Given the description of an element on the screen output the (x, y) to click on. 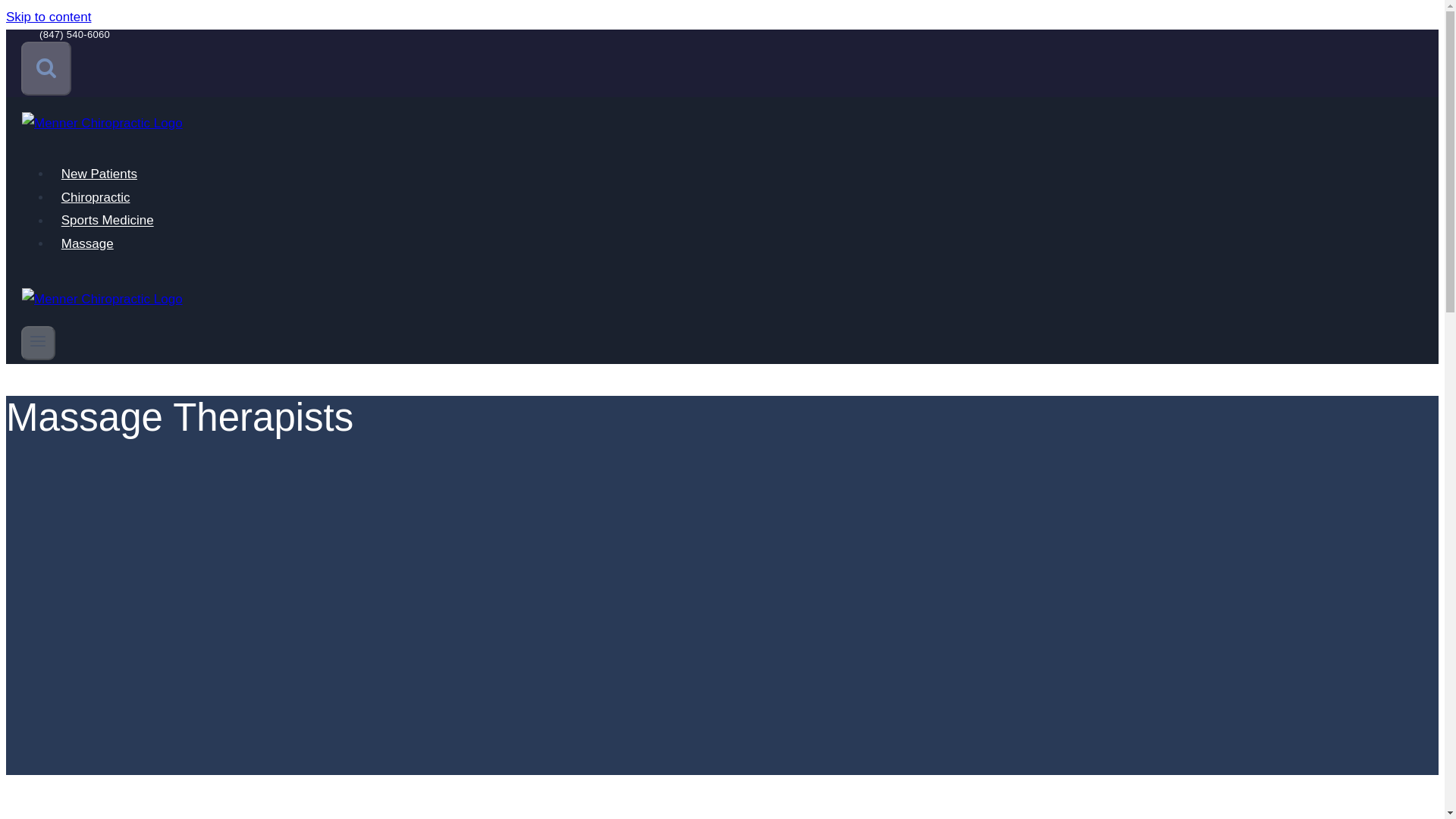
New Patients (98, 173)
Massage (86, 243)
Chiropractic (94, 197)
Skip to content (47, 16)
Toggle Menu (38, 342)
Search (46, 66)
Search (46, 68)
Skip to content (47, 16)
Toggle Menu (37, 341)
Sports Medicine (106, 220)
